Given the description of an element on the screen output the (x, y) to click on. 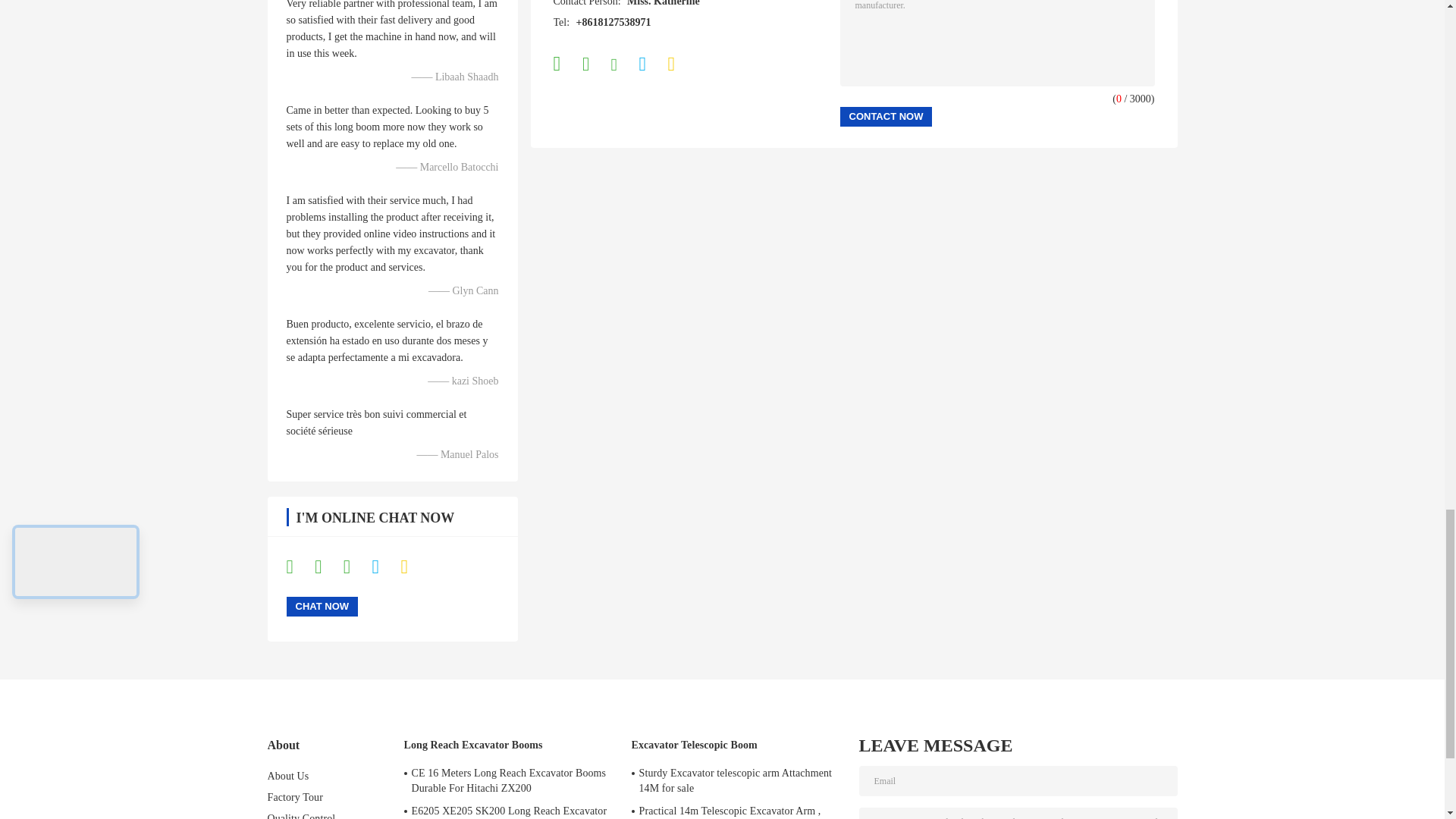
Contact Now (886, 116)
Chat Now (322, 606)
